Given the description of an element on the screen output the (x, y) to click on. 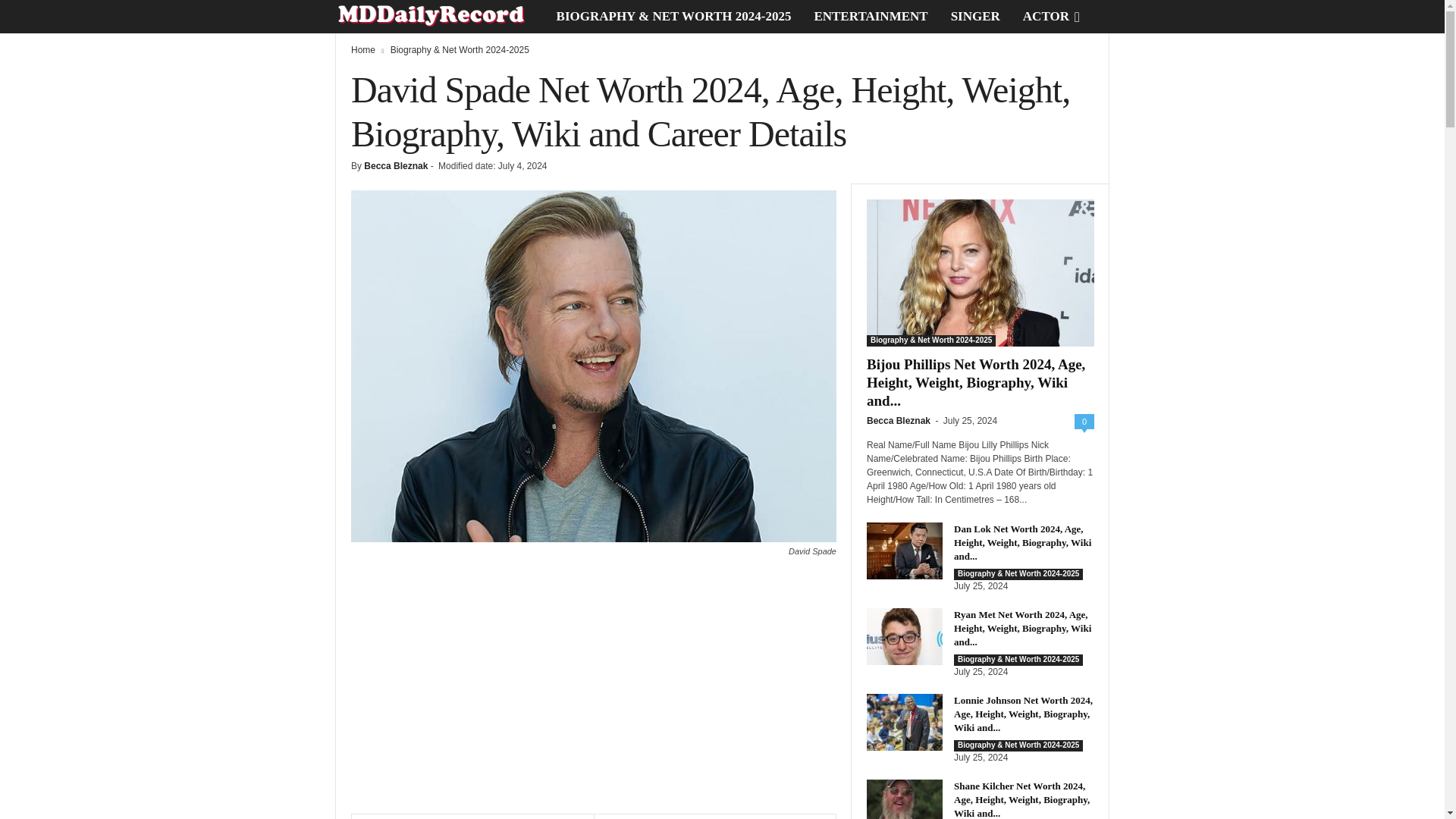
ACTOR (1045, 16)
Advertisement (592, 692)
Home (362, 50)
SINGER (975, 16)
ENTERTAINMENT (870, 16)
Becca Bleznak (396, 165)
MD Daily Record (439, 16)
